Given the description of an element on the screen output the (x, y) to click on. 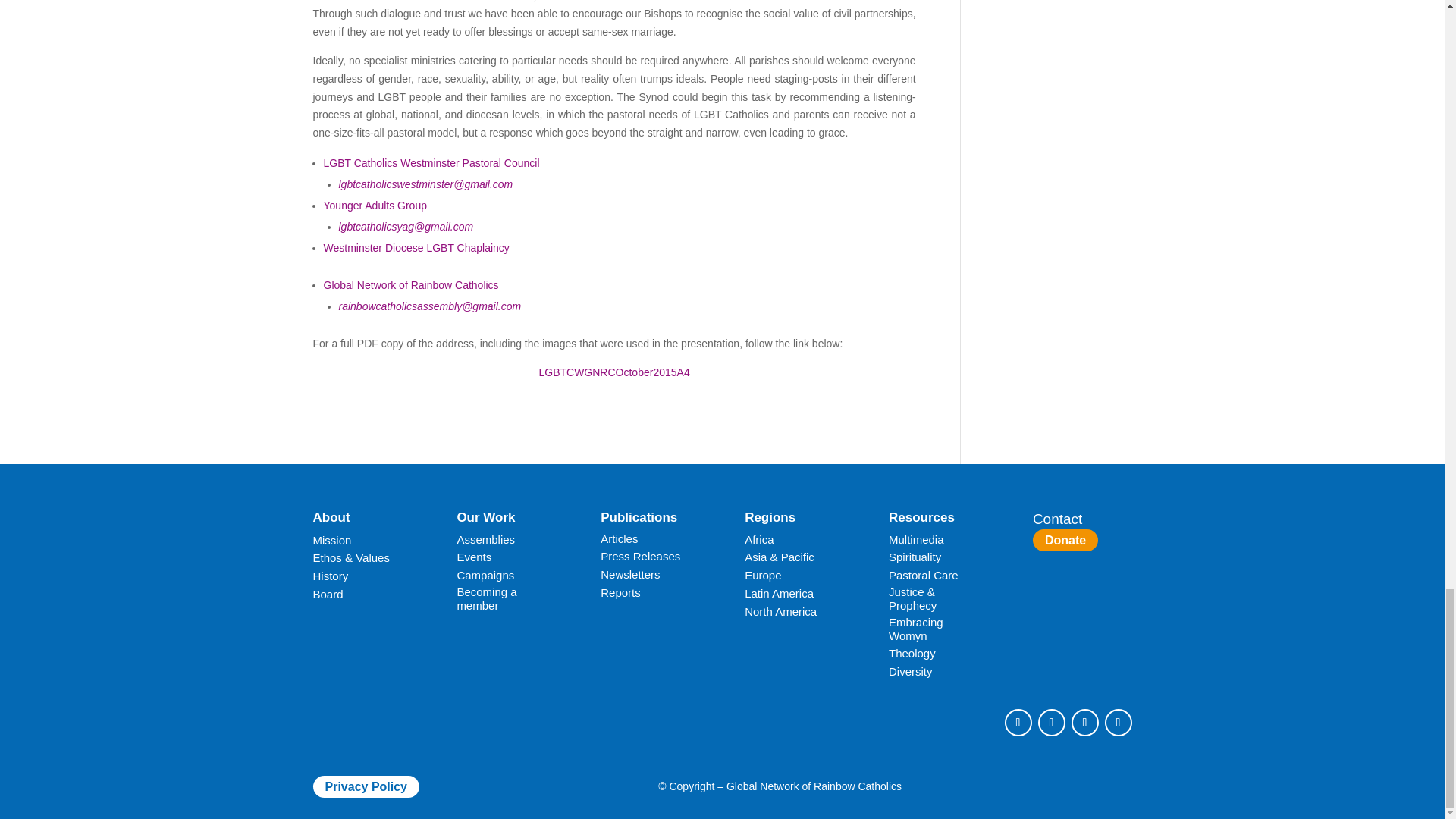
Follow on Instagram (1117, 722)
Follow on X (1050, 722)
Follow on Facebook (1017, 722)
Follow on Youtube (1083, 722)
